Given the description of an element on the screen output the (x, y) to click on. 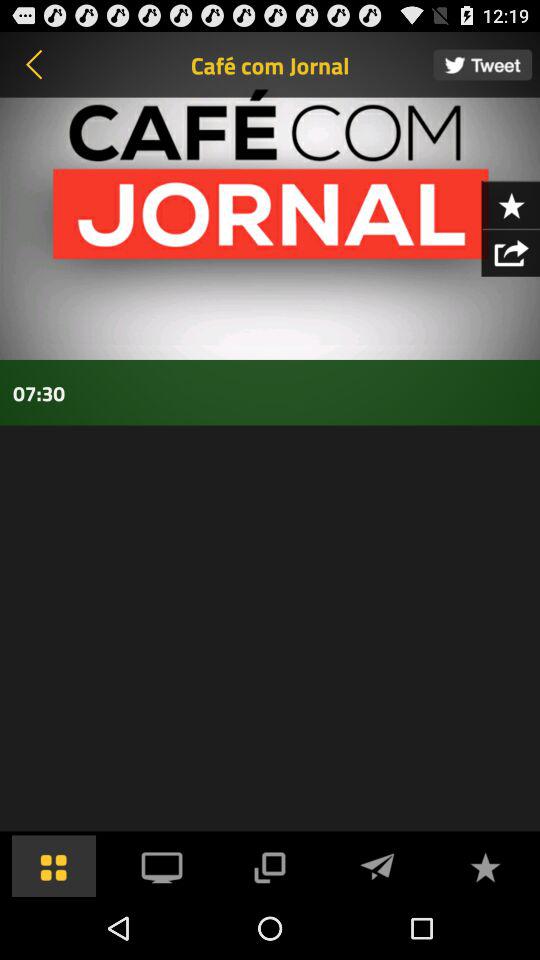
cast the video (269, 865)
